Given the description of an element on the screen output the (x, y) to click on. 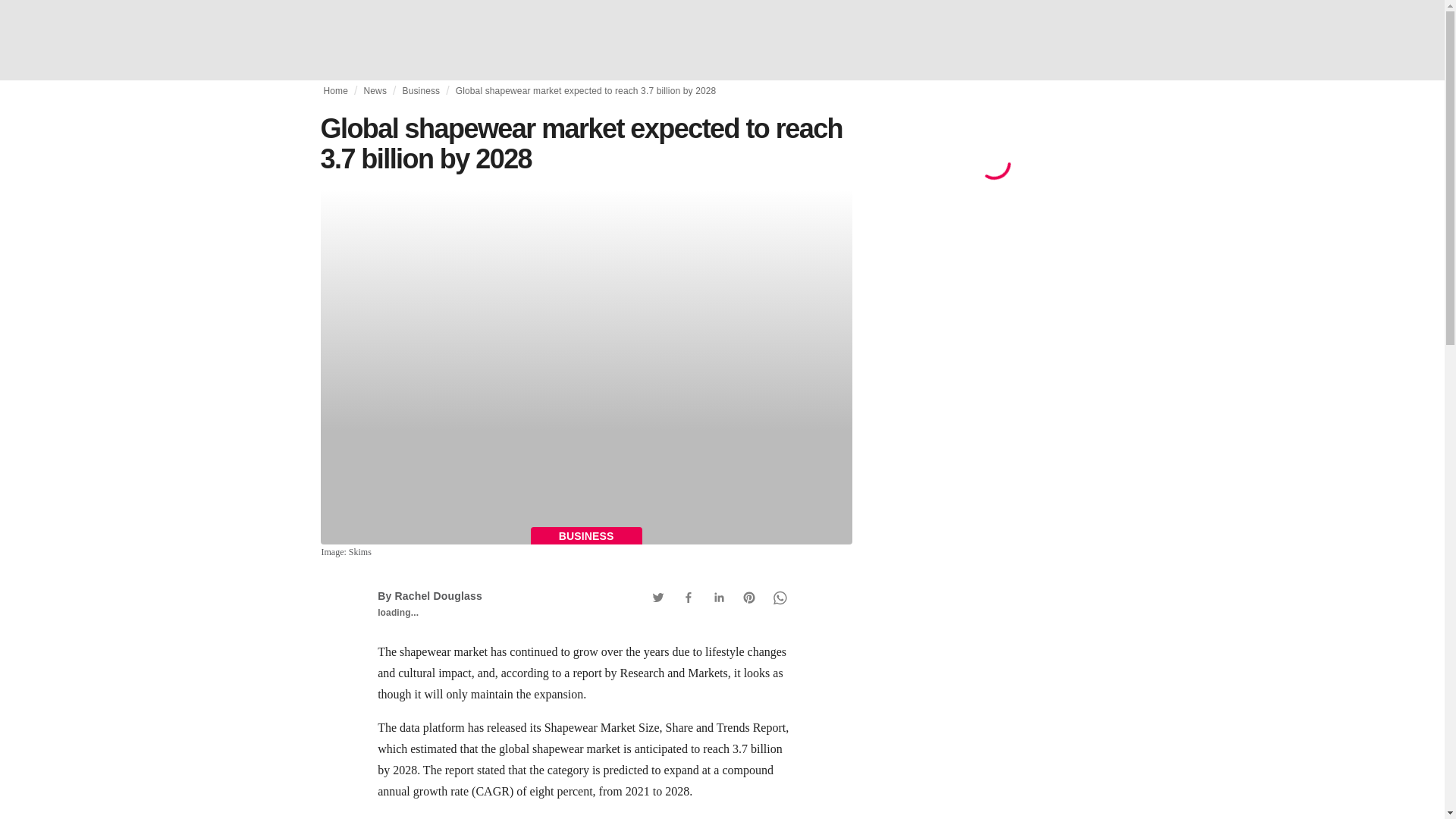
Home (335, 90)
By Rachel Douglass (429, 595)
News (375, 90)
Business (420, 90)
